Given the description of an element on the screen output the (x, y) to click on. 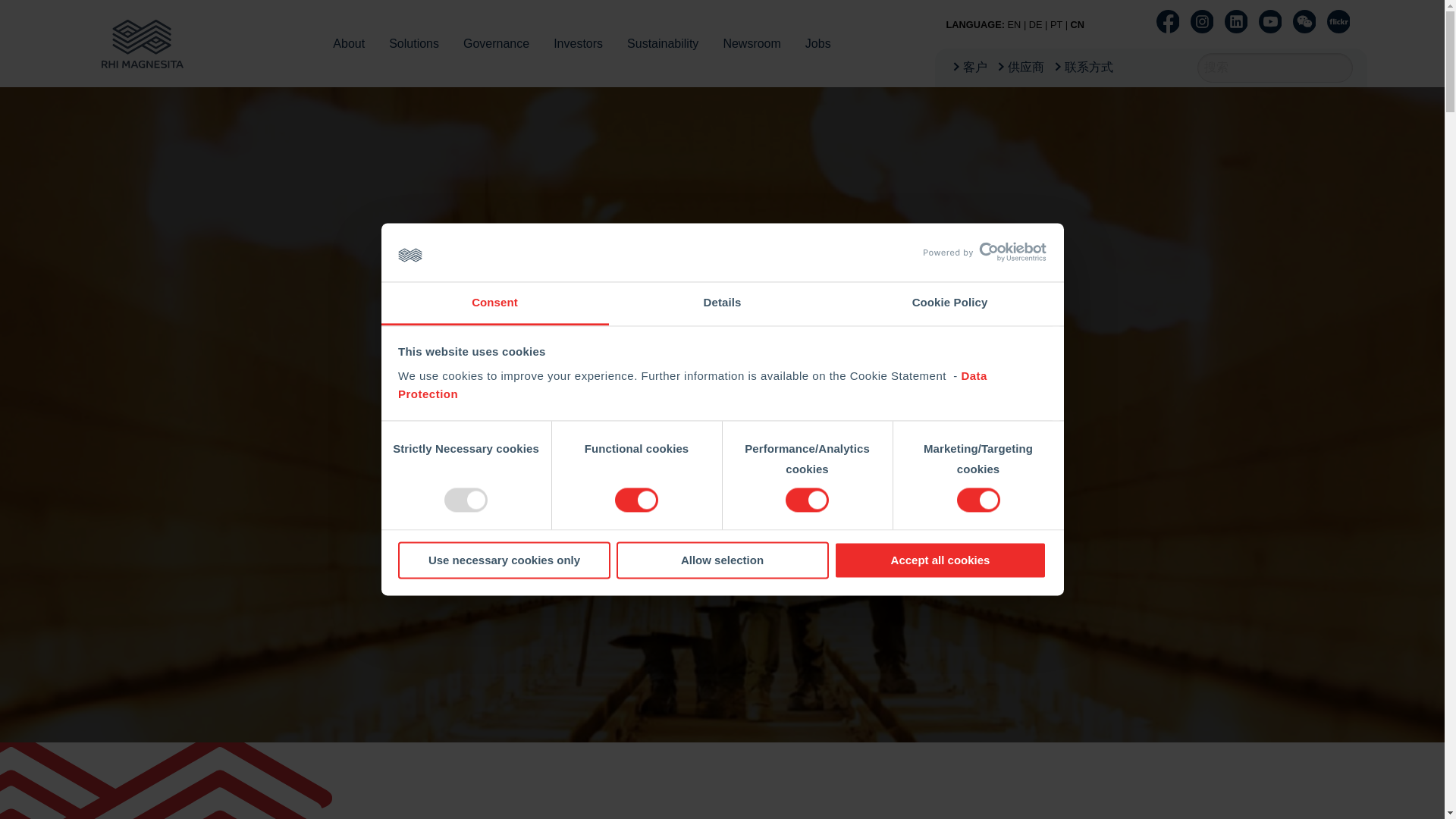
Details (721, 303)
Cookie Policy (948, 303)
Consent (494, 303)
Data Protection (692, 384)
